Given the description of an element on the screen output the (x, y) to click on. 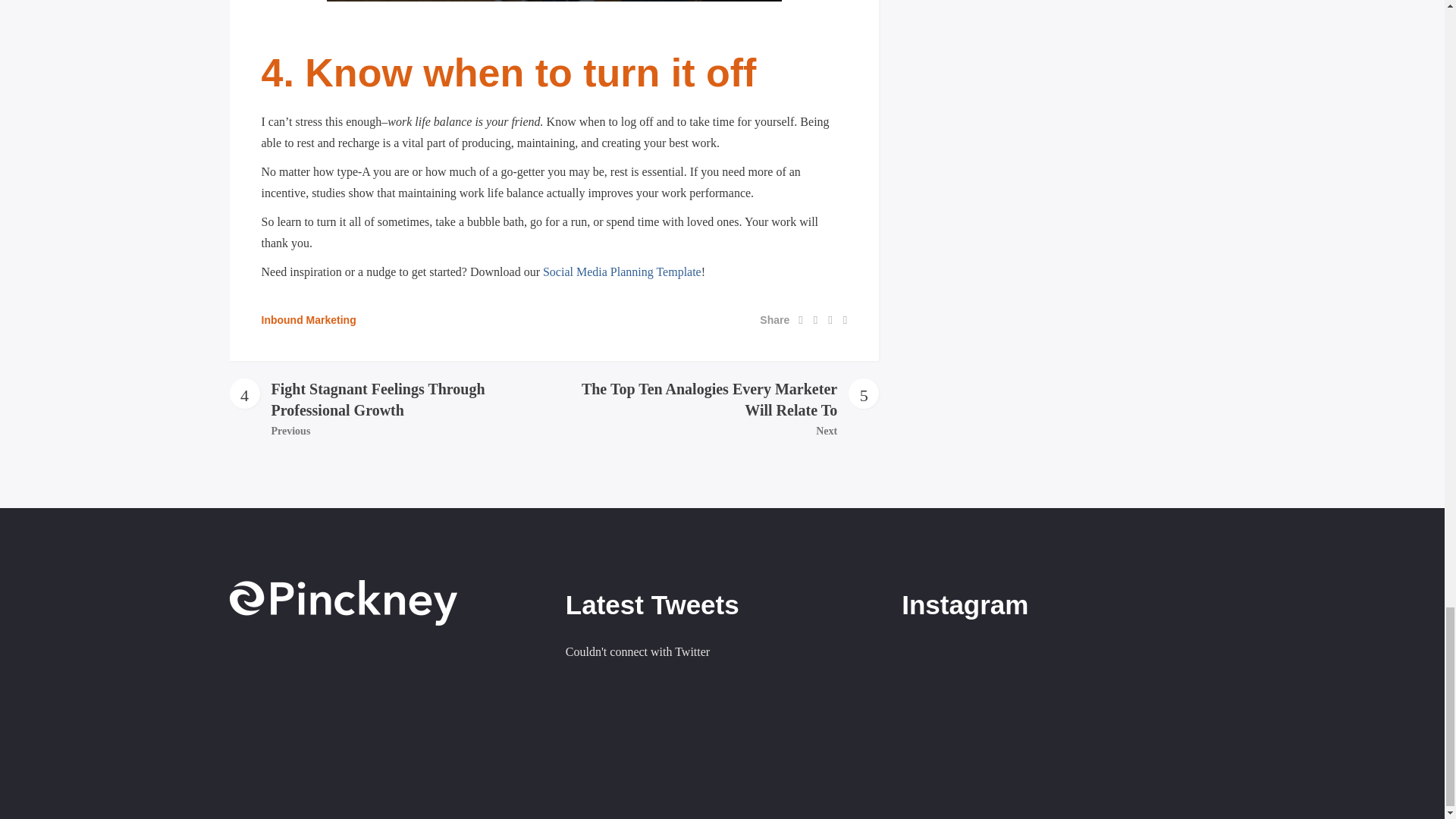
Form 0 (384, 720)
